Given the description of an element on the screen output the (x, y) to click on. 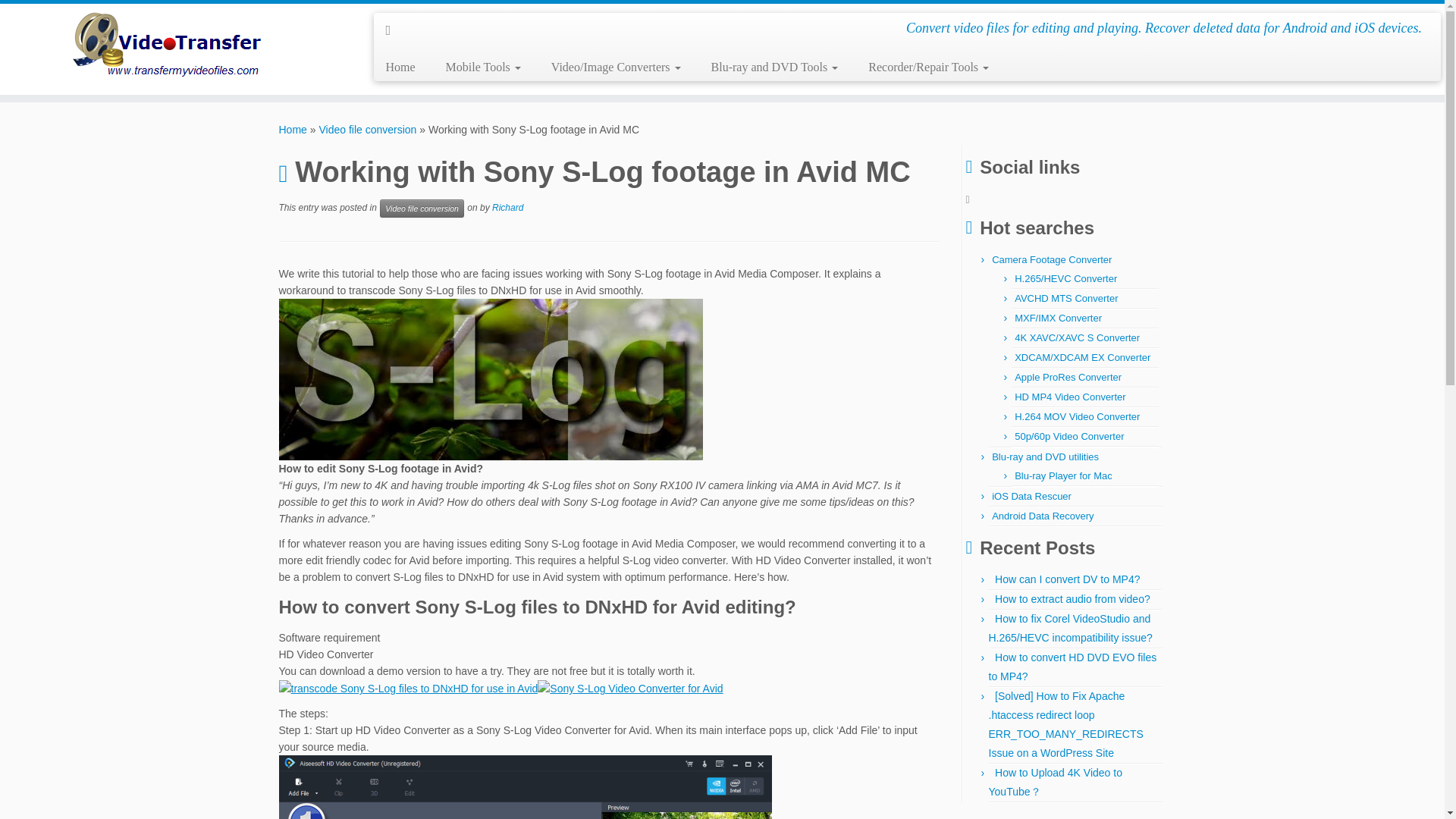
Home (405, 67)
Blu-ray and DVD Tools (774, 67)
Richard (507, 207)
Home (293, 129)
Video file conversion (422, 208)
Follow us on Rss (392, 29)
Video file conversion (367, 129)
Video Transfer (293, 129)
View all posts in Video file conversion (422, 208)
View all posts by Richard (507, 207)
